Given the description of an element on the screen output the (x, y) to click on. 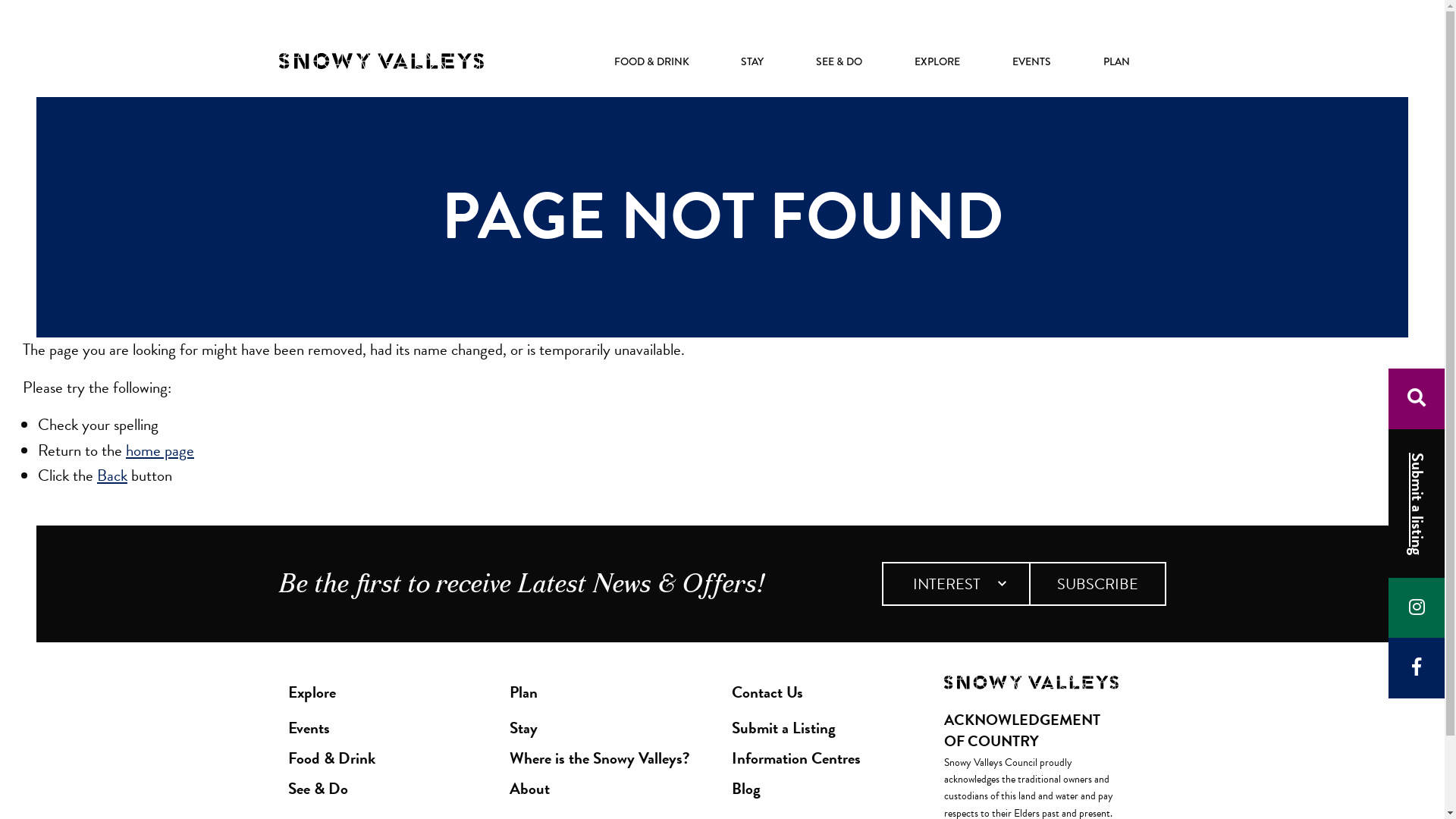
STAY Element type: text (762, 60)
SEE & DO Element type: text (849, 60)
Information Centres Element type: text (795, 758)
Food & Drink Element type: text (331, 758)
home page Element type: text (159, 450)
Explore Element type: text (331, 692)
Submit a Listing Element type: text (795, 727)
About Element type: text (599, 788)
Blog Element type: text (795, 788)
See & Do Element type: text (331, 788)
Where is the Snowy Valleys? Element type: text (599, 758)
SUBSCRIBE Element type: text (1096, 583)
Plan Element type: text (599, 692)
Back Element type: text (112, 475)
Events Element type: text (331, 727)
EXPLORE Element type: text (947, 60)
FOOD & DRINK Element type: text (661, 60)
Contact Us Element type: text (795, 692)
PLAN Element type: text (1126, 60)
Skip to Main Content Element type: text (0, 97)
EVENTS Element type: text (1041, 60)
Submit a listing Element type: text (1416, 503)
Stay Element type: text (599, 727)
